Given the description of an element on the screen output the (x, y) to click on. 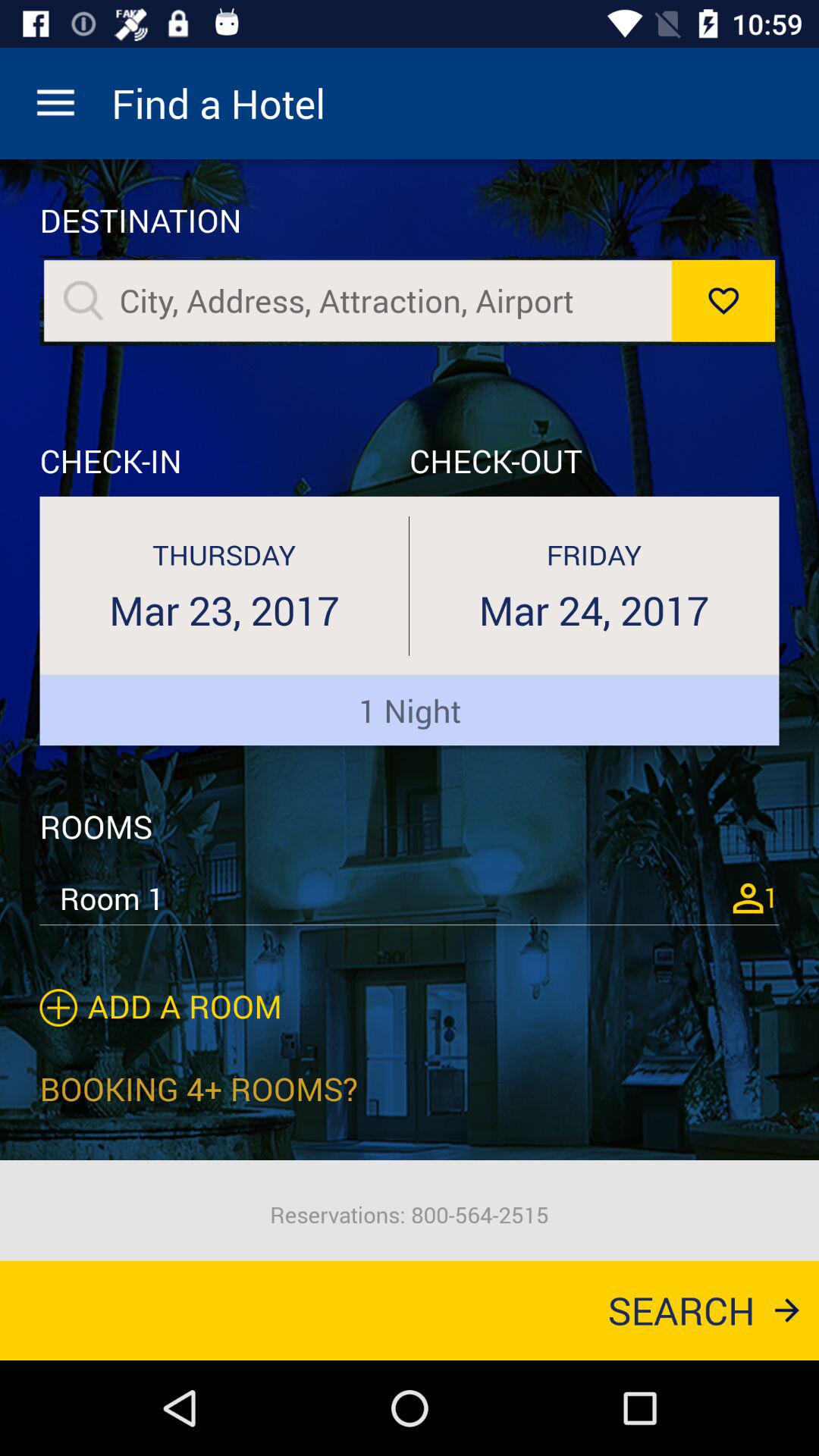
search the destination (83, 300)
